Given the description of an element on the screen output the (x, y) to click on. 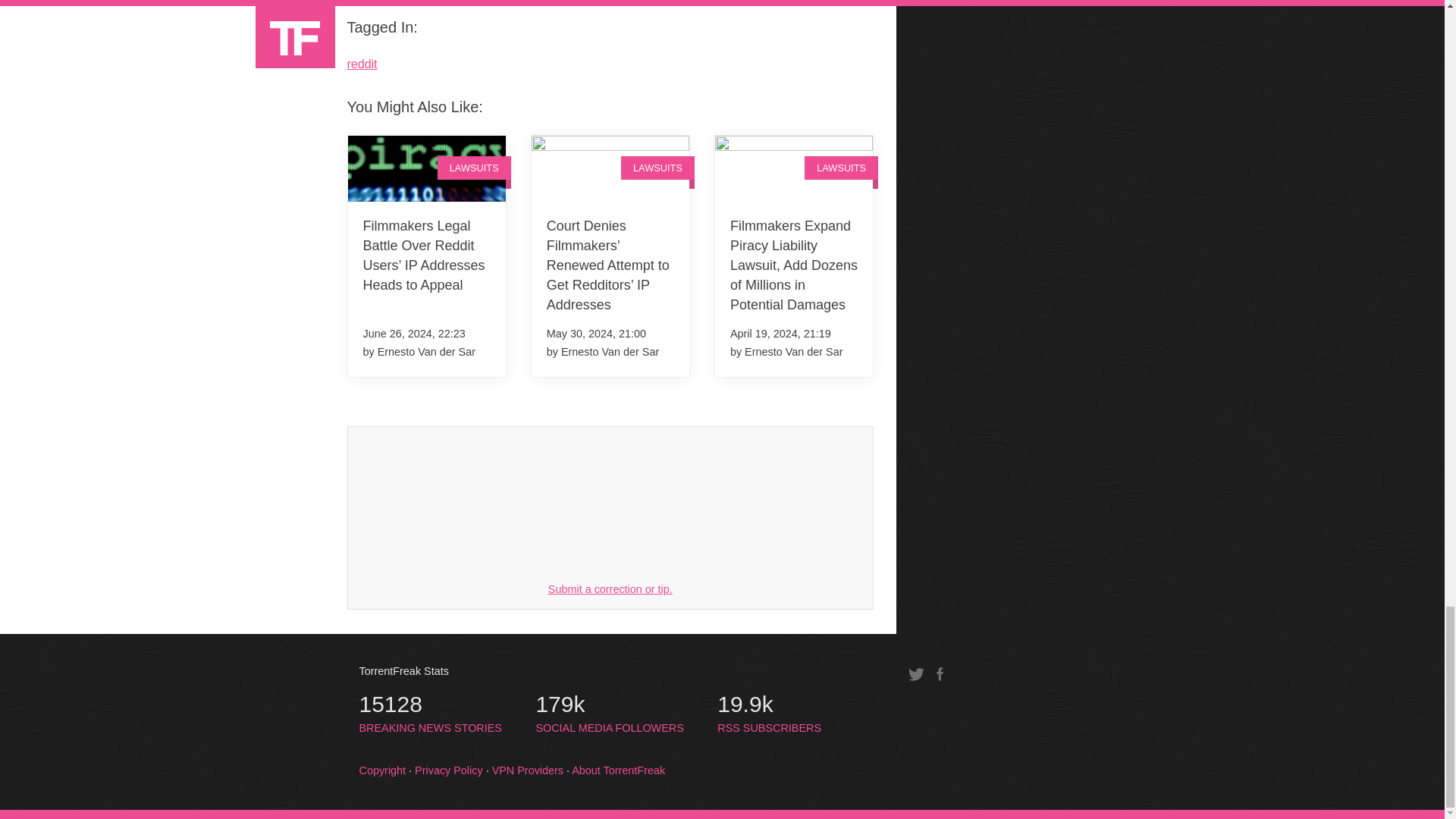
Submit a correction or tip. (610, 589)
reddit (362, 63)
